Given the description of an element on the screen output the (x, y) to click on. 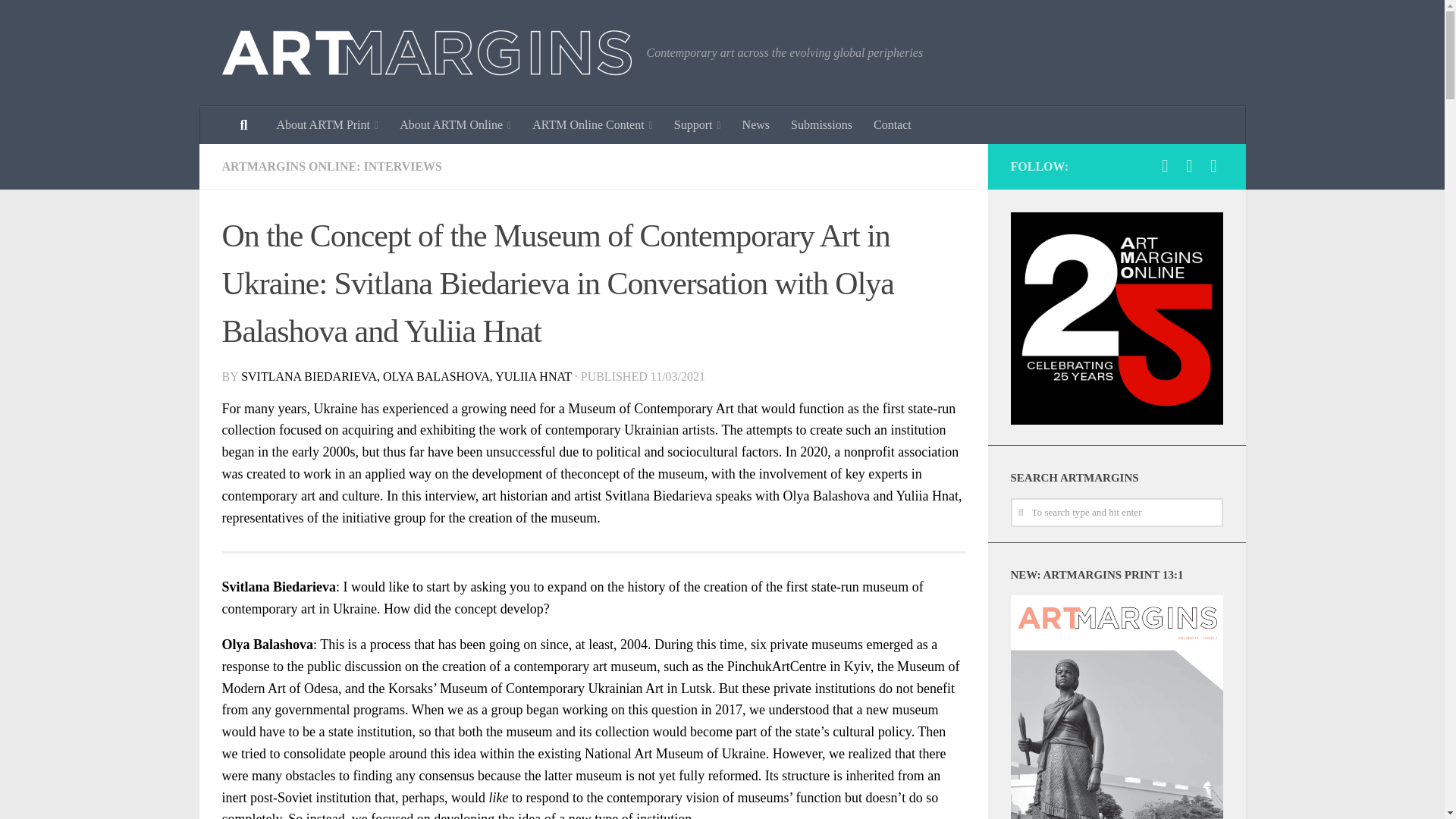
Follow us on Instagram (1188, 166)
About ARTM Print (326, 125)
To search type and hit enter (1116, 512)
Follow us on Twitter (1213, 166)
To search type and hit enter (1116, 512)
